Given the description of an element on the screen output the (x, y) to click on. 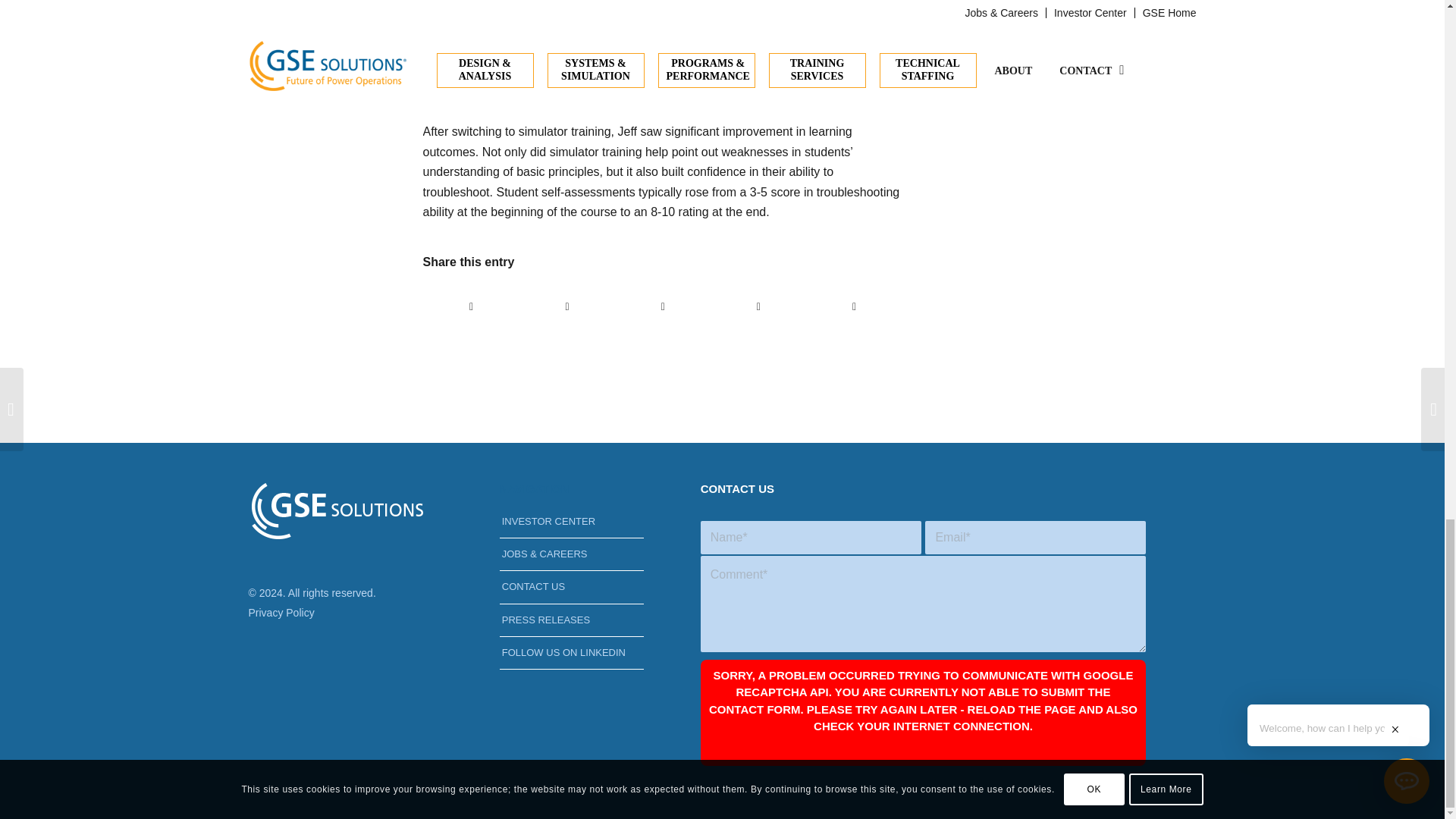
Logo-sm-gse-solutions-footer (337, 510)
